Given the description of an element on the screen output the (x, y) to click on. 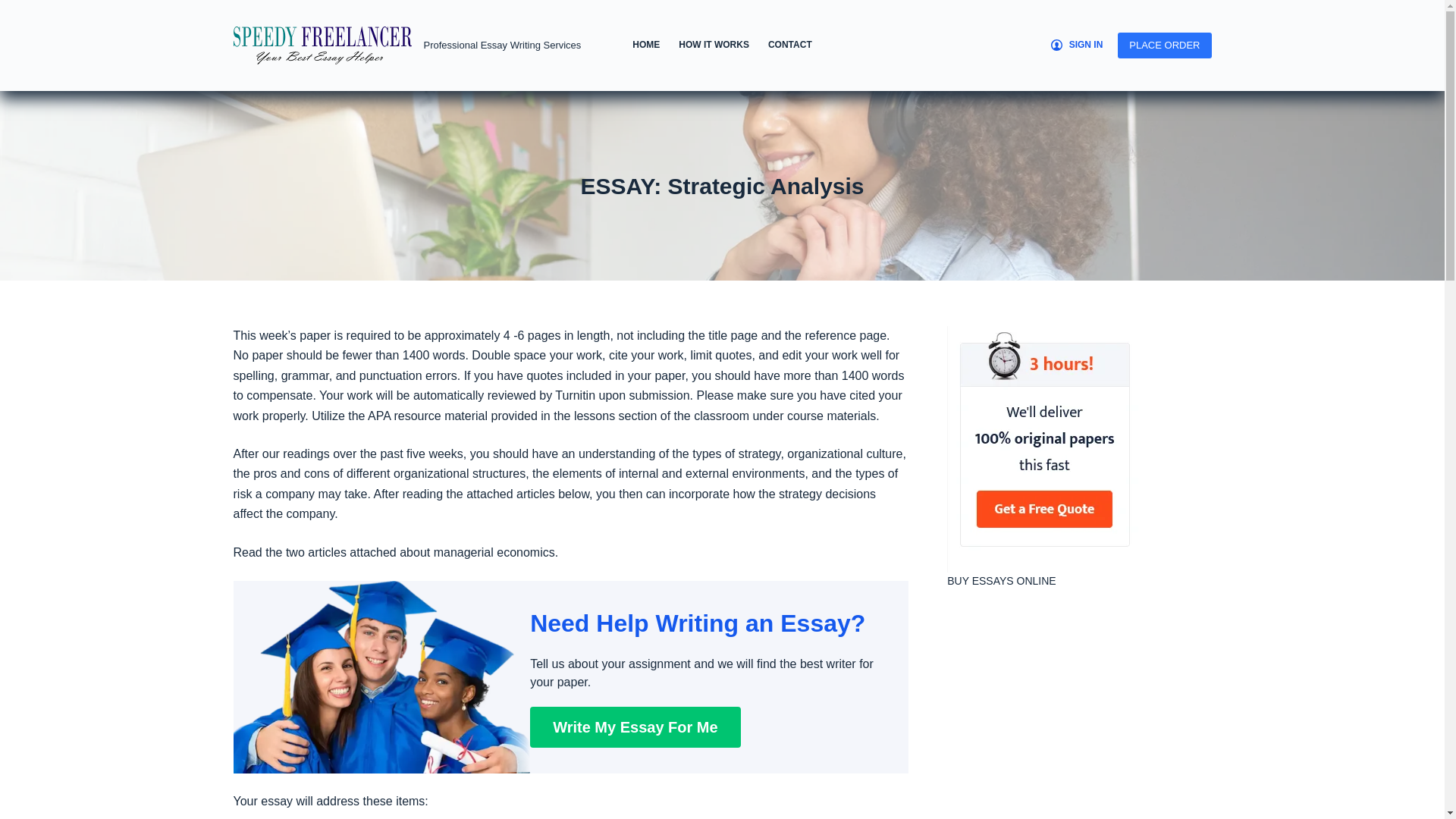
Write My Essay For Me (634, 726)
ESSAY: Strategic Analysis (722, 185)
Skip to content (15, 7)
HOW IT WORKS (713, 45)
PLACE ORDER (1164, 45)
SIGN IN (1076, 45)
